Given the description of an element on the screen output the (x, y) to click on. 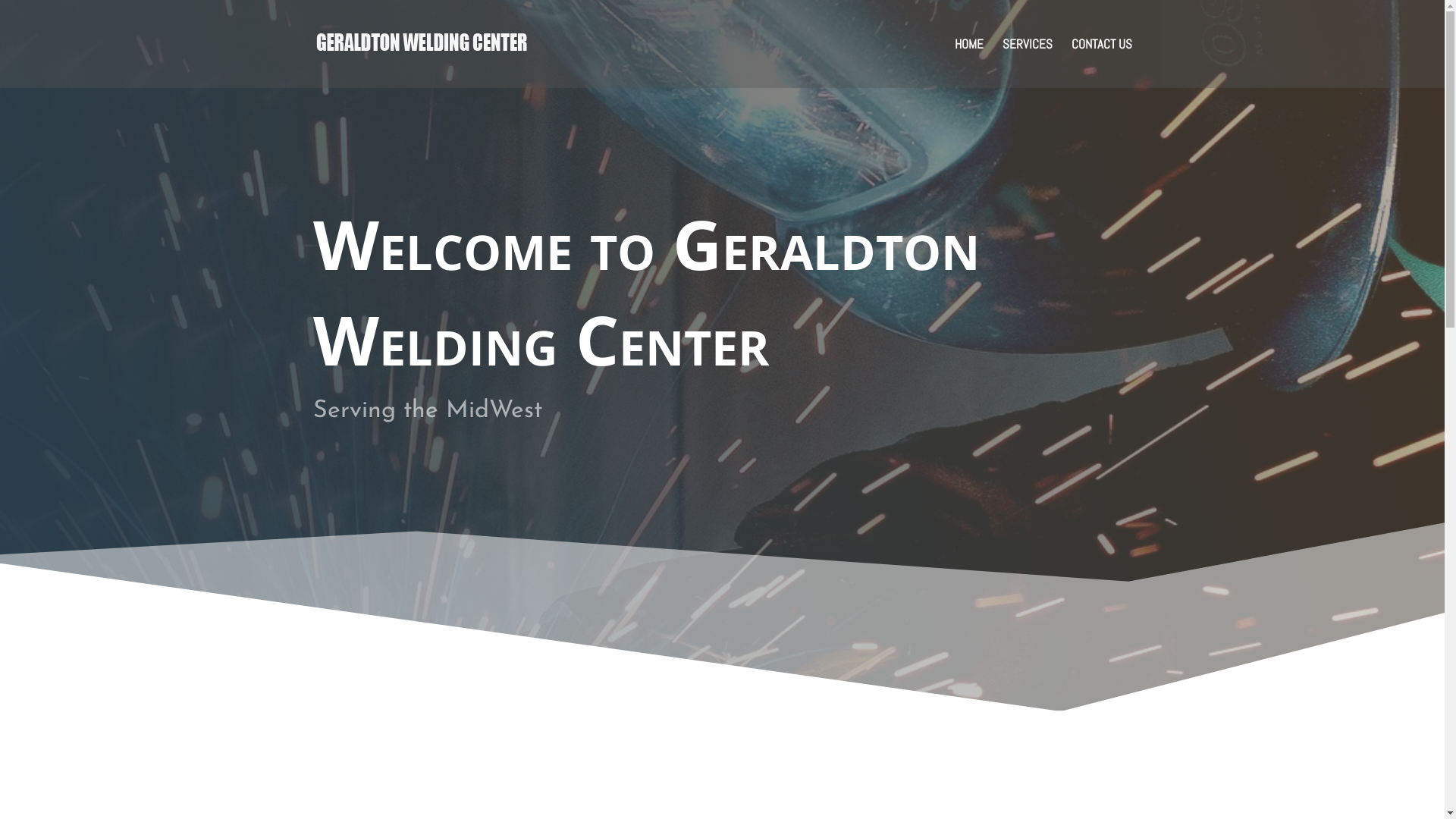
CONTACT US Element type: text (1100, 62)
SERVICES Element type: text (1027, 62)
HOME Element type: text (967, 62)
